Given the description of an element on the screen output the (x, y) to click on. 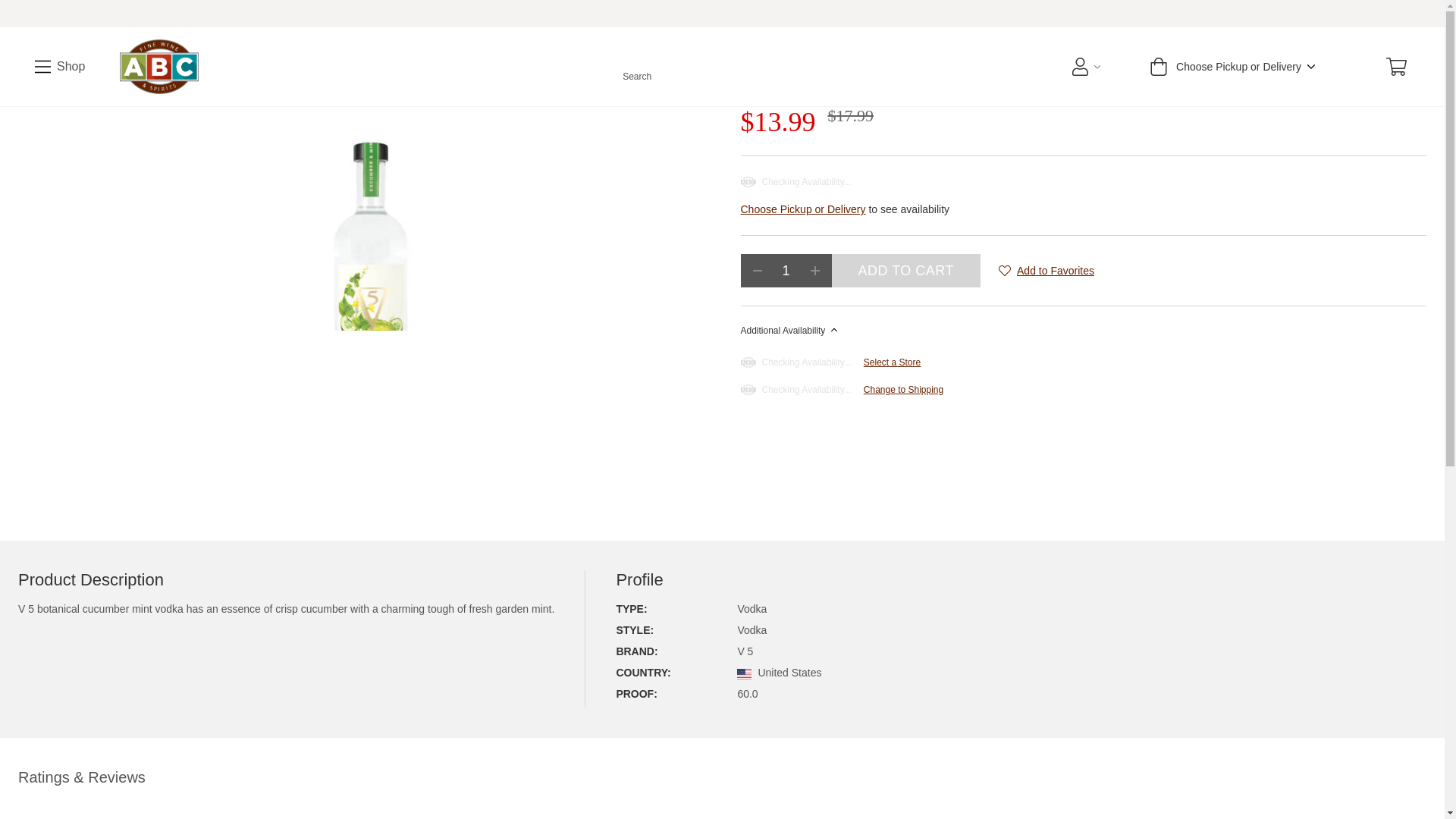
1 (785, 270)
Search (636, 66)
Shop (59, 66)
Choose Pickup or Delivery (1230, 66)
